Given the description of an element on the screen output the (x, y) to click on. 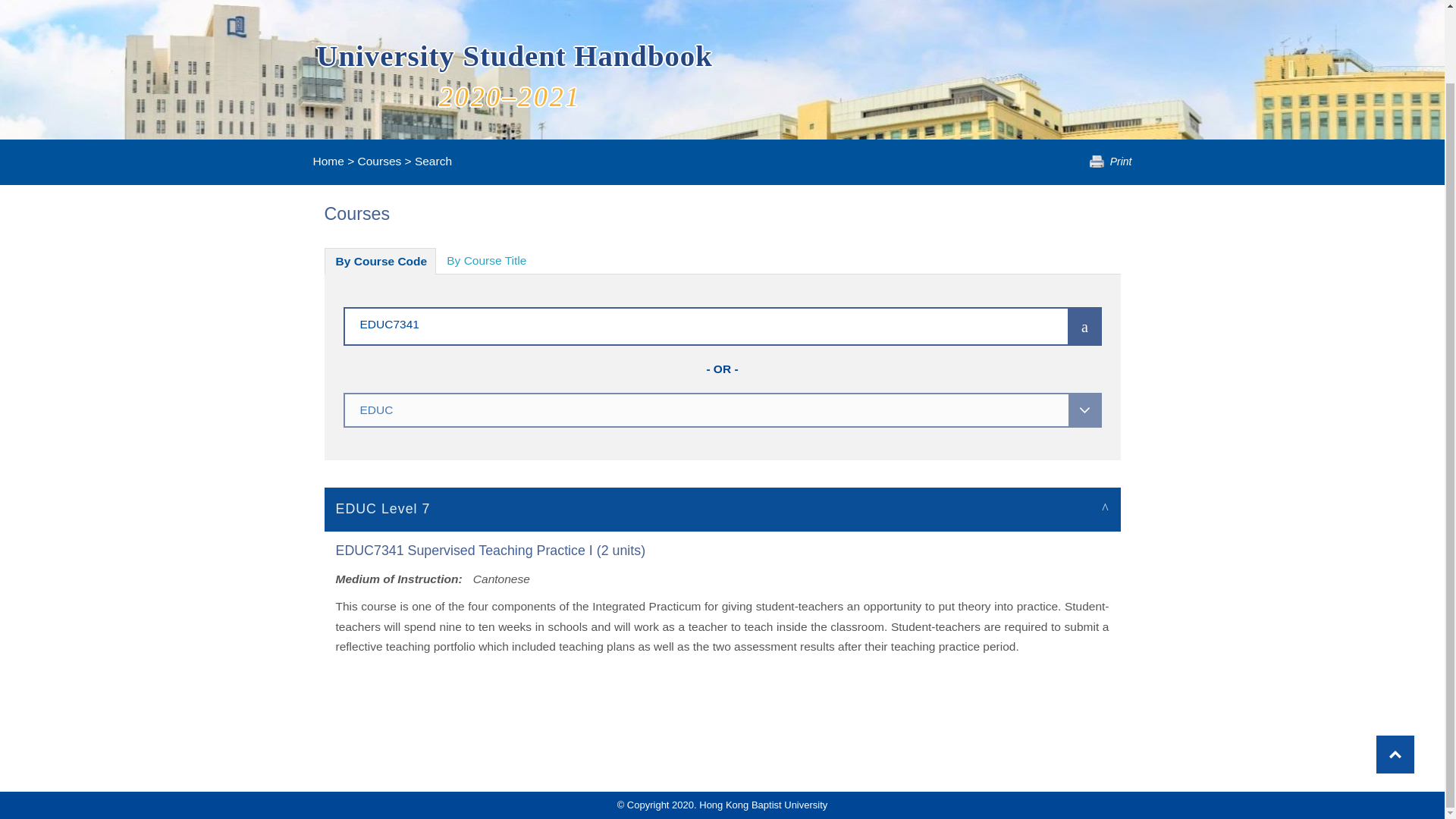
Scroll To Top (1394, 672)
Scroll To Top (1394, 672)
Home (328, 160)
Courses (379, 160)
By Course Title (486, 260)
By Course Code (381, 261)
EDUC7341 (683, 322)
EDUC7341 (683, 322)
EDUC Level 7 (722, 508)
Print (1110, 161)
Scroll To Top (1394, 672)
